Given the description of an element on the screen output the (x, y) to click on. 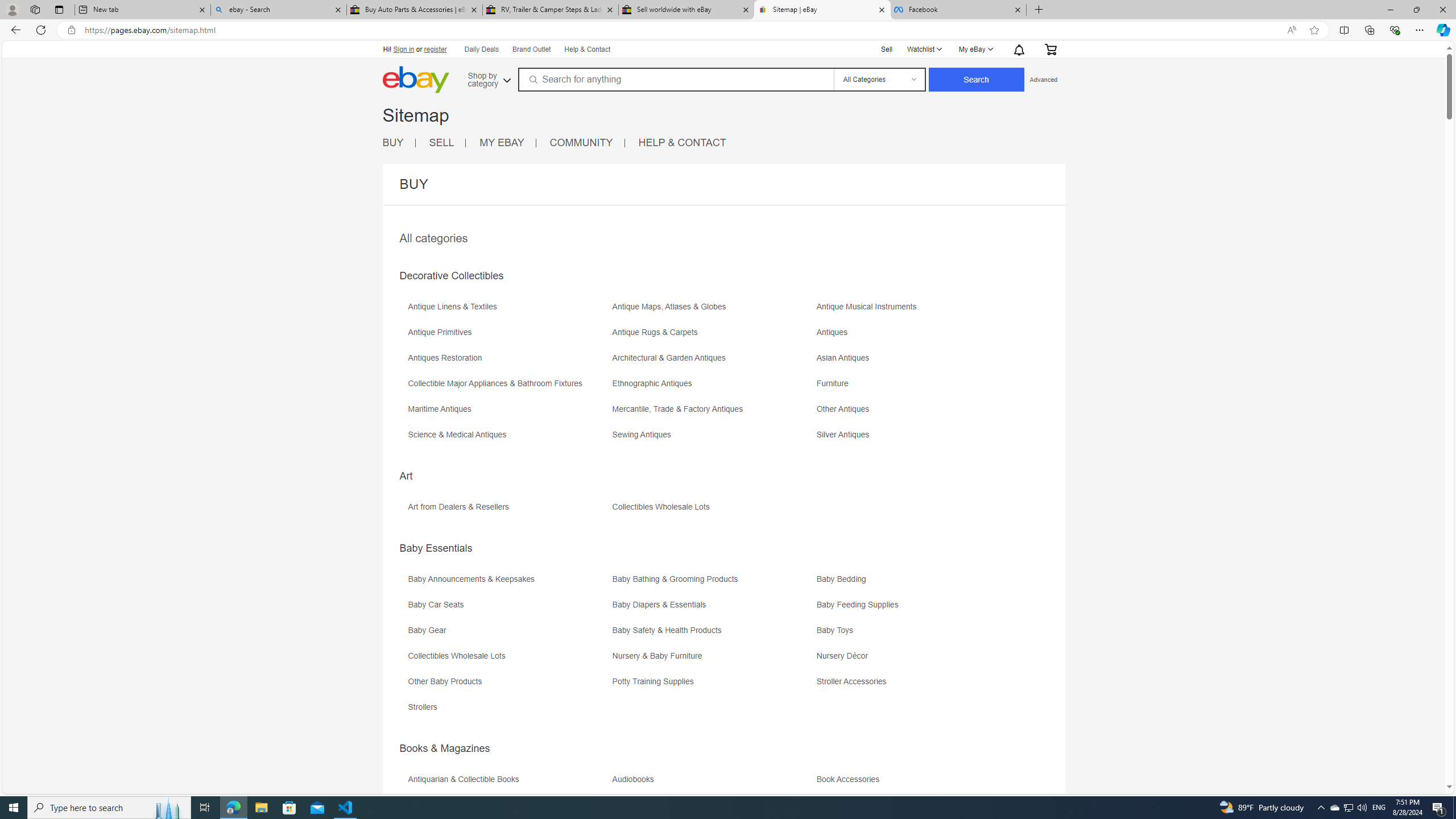
Daily Deals (481, 49)
HELP & CONTACT (681, 142)
Baby Car Seats (508, 608)
Art from Dealers & Resellers (461, 506)
Audiobooks (635, 779)
Antique Maps, Atlases & Globes (712, 310)
Antique Musical Instruments (917, 310)
